Given the description of an element on the screen output the (x, y) to click on. 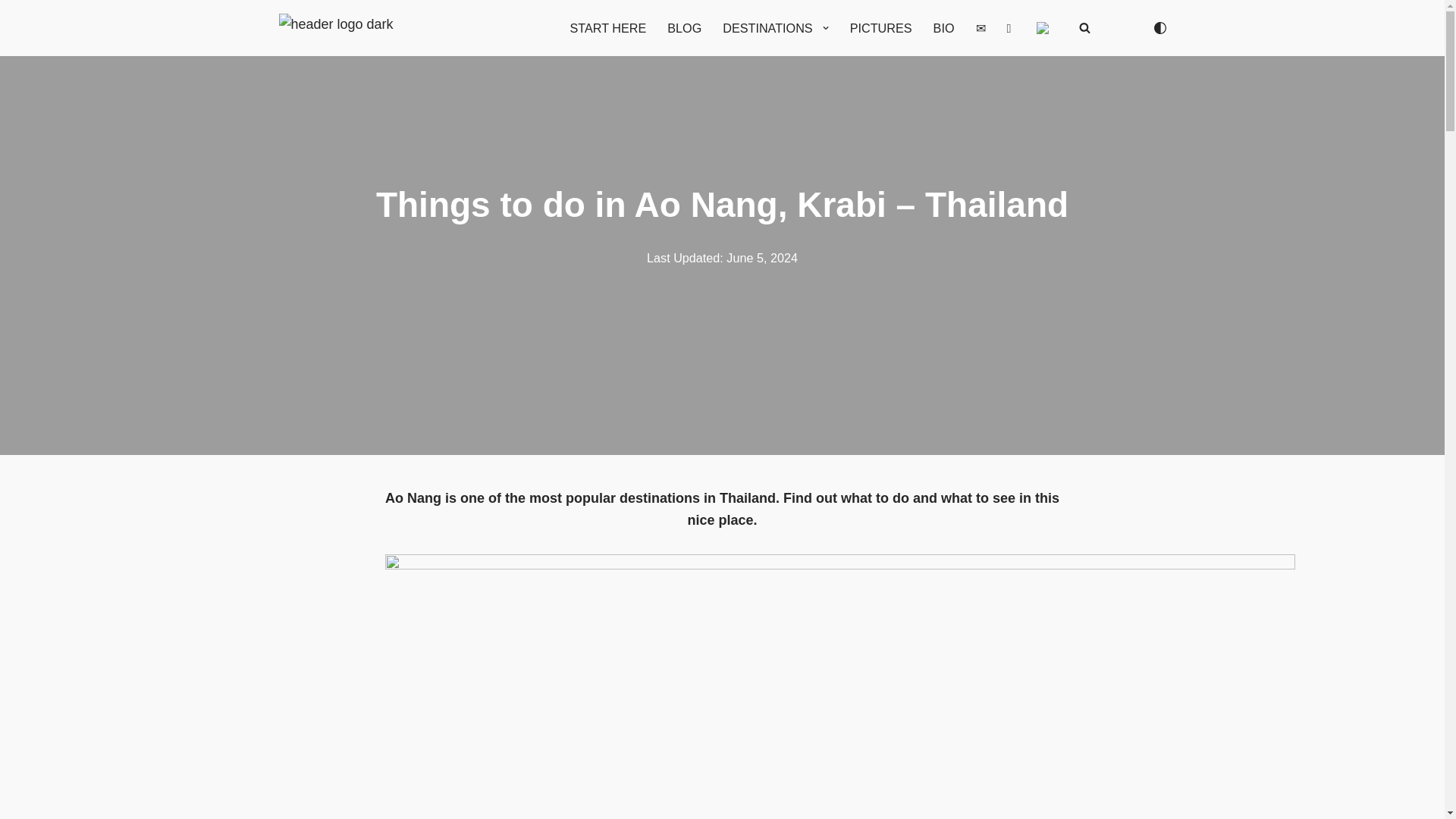
BIO (944, 28)
START HERE (608, 28)
About Fabio Nodari (944, 28)
Navigation Menu (1420, 17)
Contact Me (980, 28)
BLOG (683, 28)
Skip to content (11, 31)
Shopping Cart (1009, 28)
PICTURES (881, 28)
DESTINATIONS (767, 28)
